Given the description of an element on the screen output the (x, y) to click on. 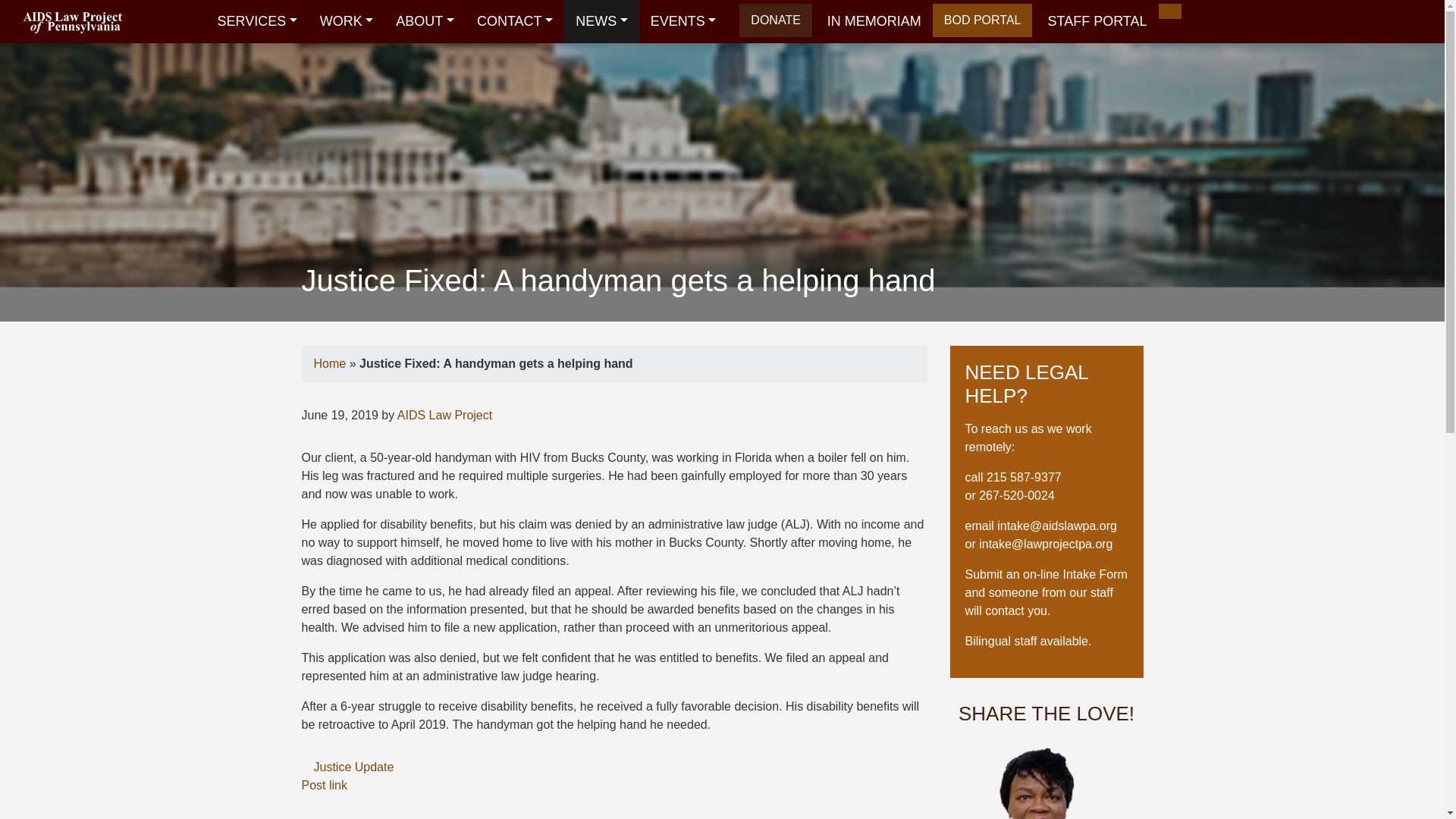
Search this Site (1169, 11)
Permalink to Justice Fixed: A handyman gets a helping hand (324, 784)
Share the love! (1039, 783)
AIDS Law Project (72, 21)
SERVICES (256, 21)
WORK (346, 21)
